Given the description of an element on the screen output the (x, y) to click on. 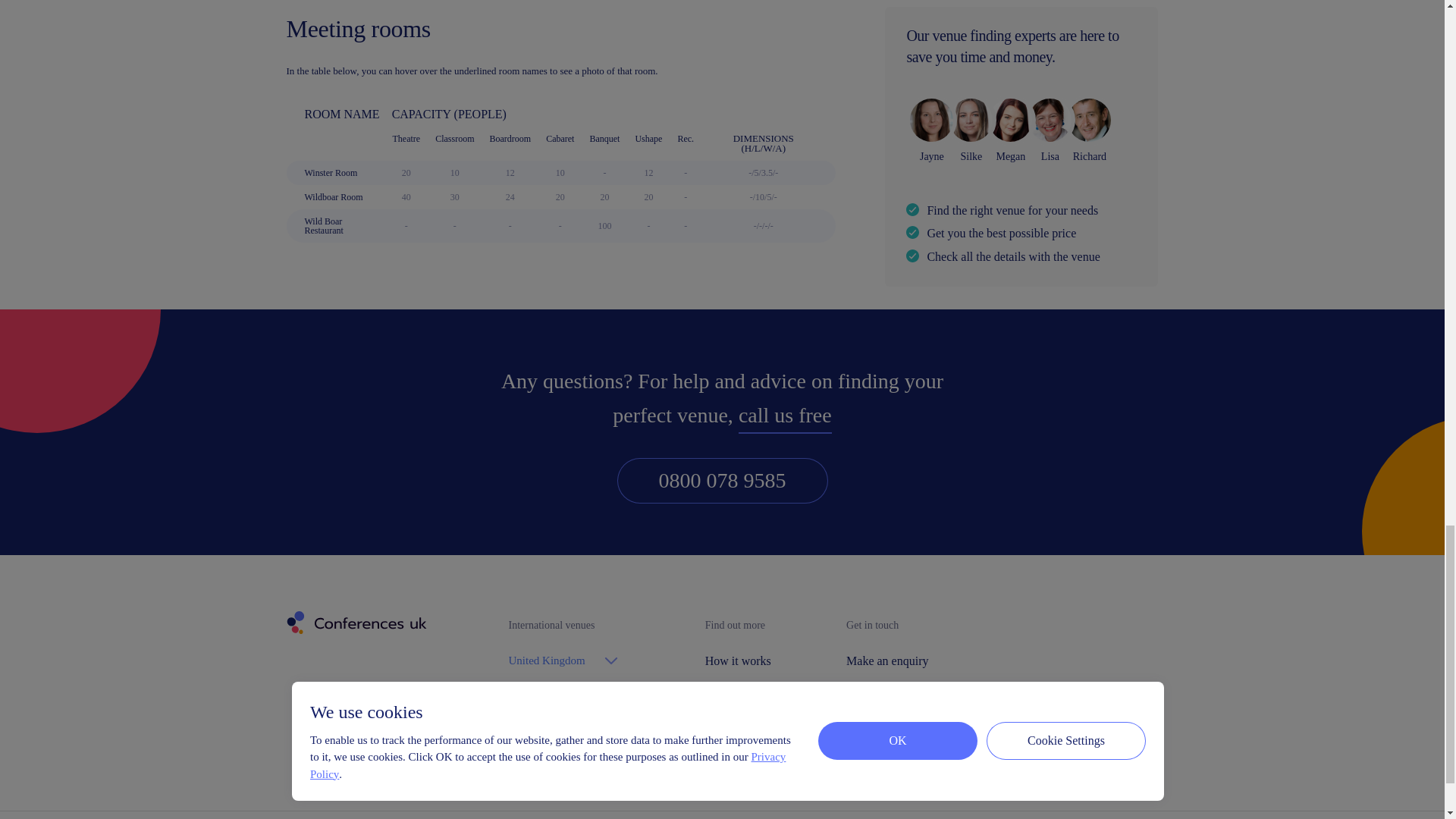
How it works (738, 661)
Blog (738, 747)
Conferences UK (354, 623)
Testimonials (738, 718)
Contact us (887, 718)
Make an enquiry (887, 661)
0800 078 9585 (722, 480)
About us (738, 689)
Advertise (887, 689)
